Given the description of an element on the screen output the (x, y) to click on. 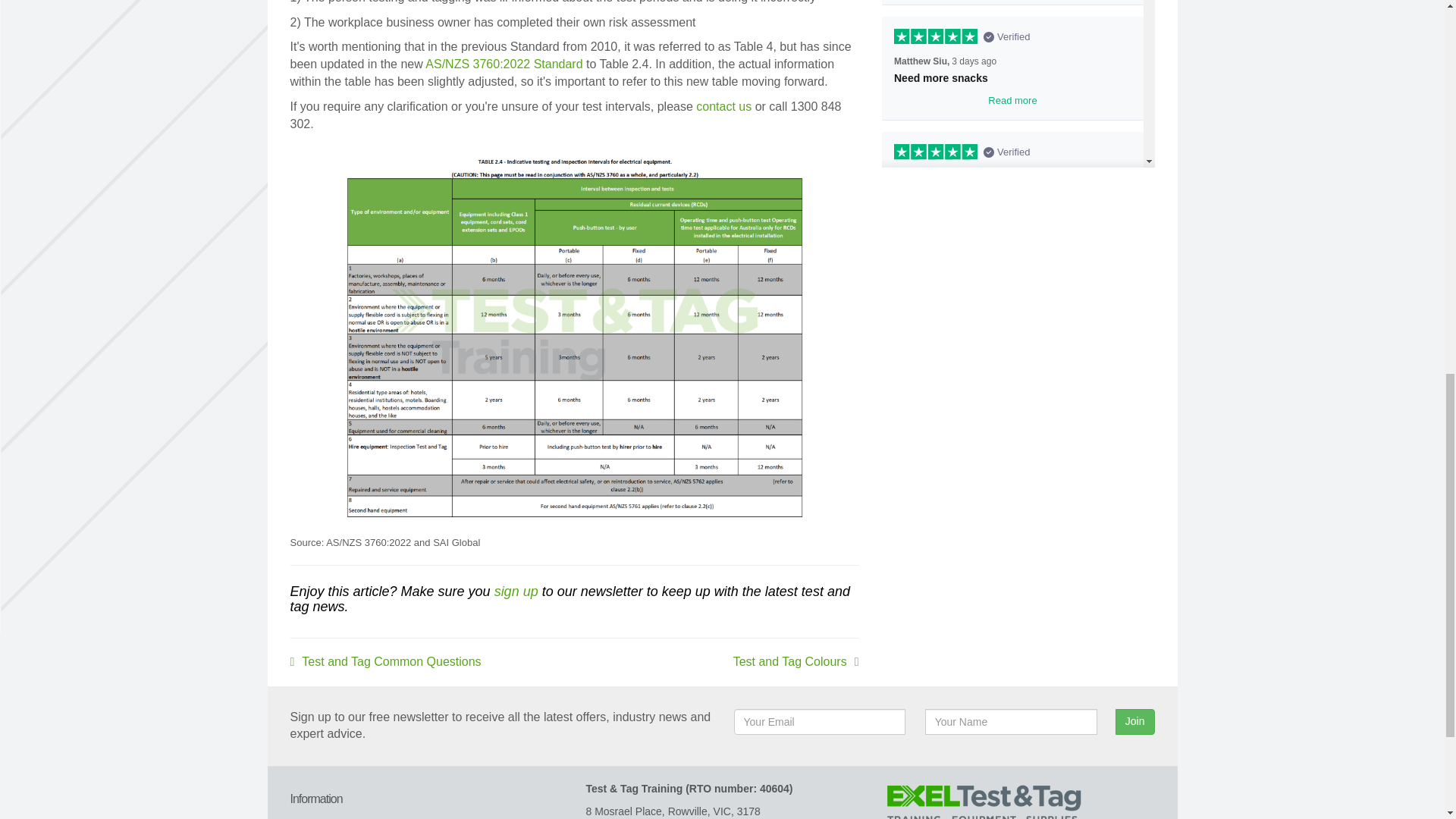
Customer reviews powered by Trustpilot (1017, 83)
